Given the description of an element on the screen output the (x, y) to click on. 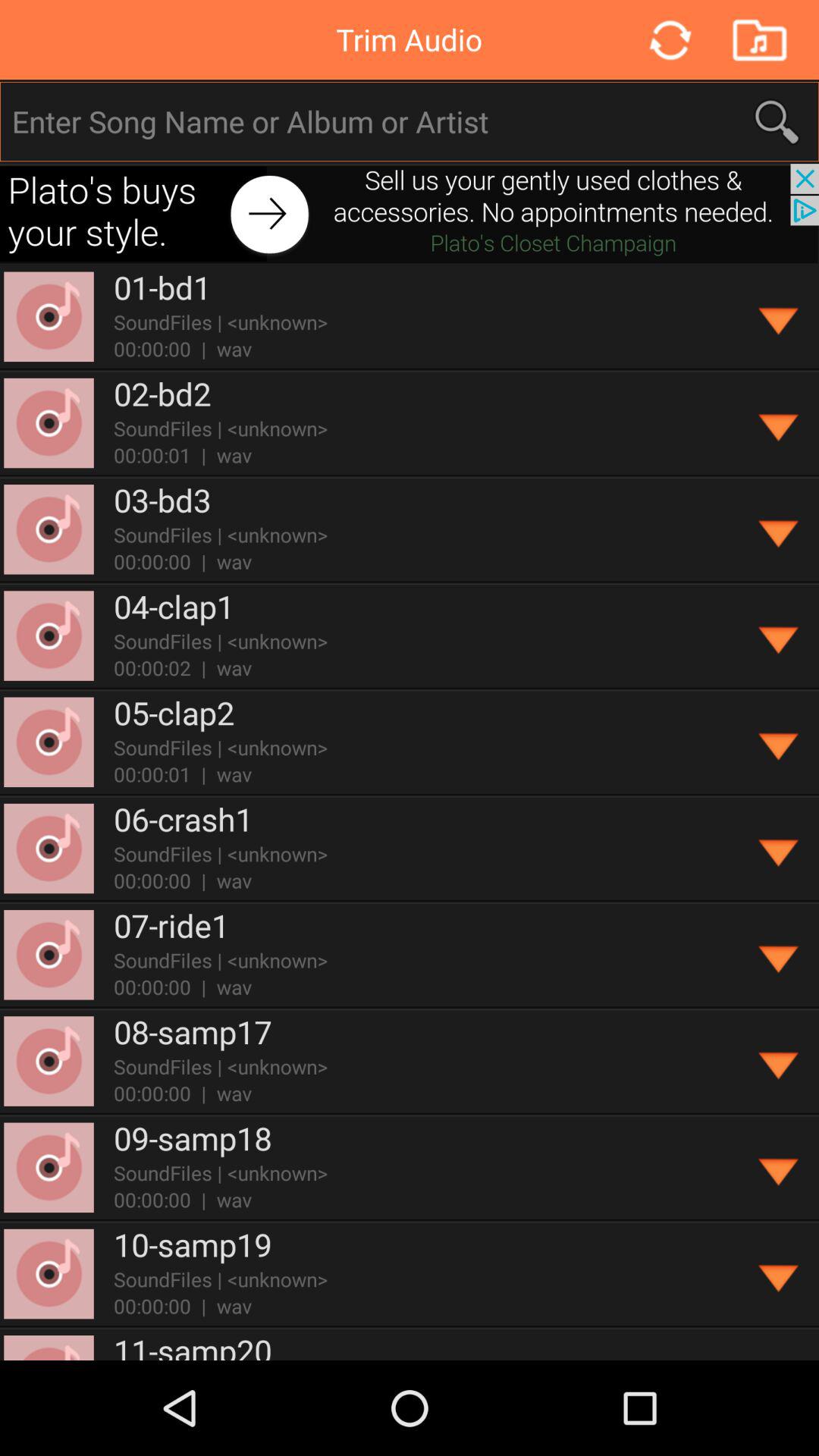
show file information (779, 1061)
